Given the description of an element on the screen output the (x, y) to click on. 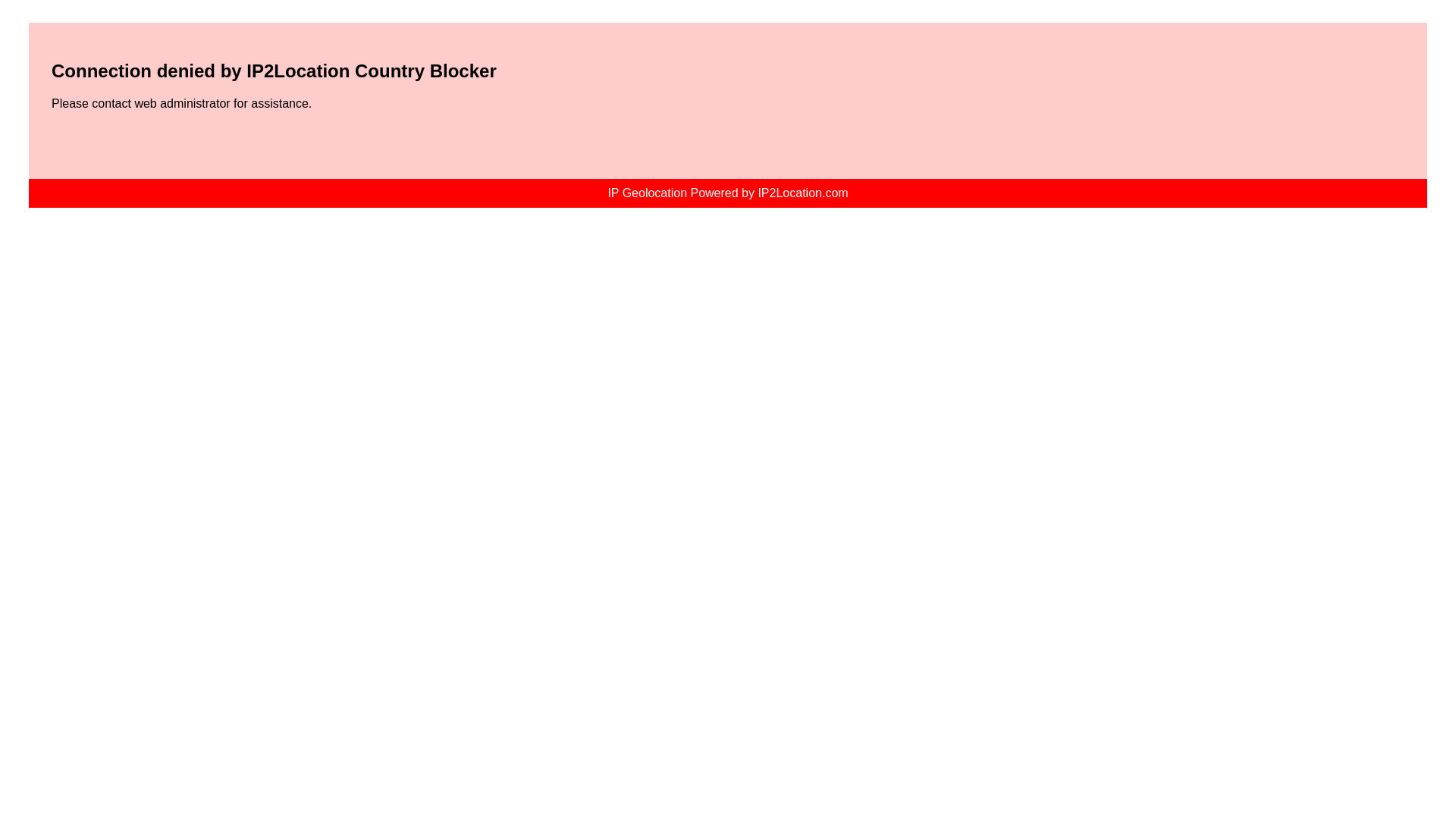
IP Geolocation Powered by IP2Location.com Element type: text (727, 192)
